Given the description of an element on the screen output the (x, y) to click on. 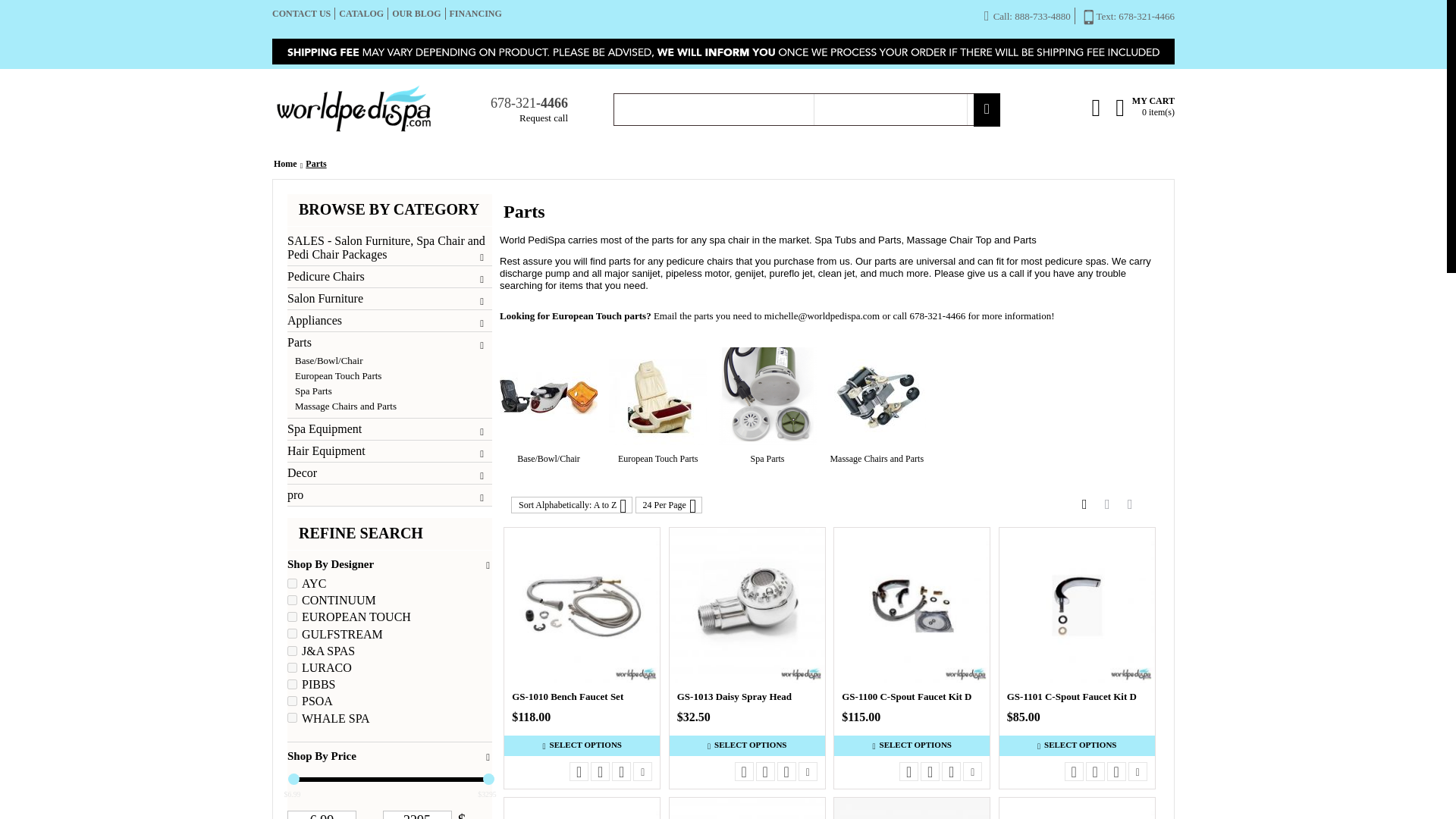
pro (389, 495)
World PediSpa (353, 108)
FINANCING (474, 13)
Parts (389, 342)
149 (291, 684)
Massage Chairs and Parts (393, 406)
Spa Parts (393, 390)
138 (291, 700)
OUR BLOG (416, 13)
Pedicure Chairs (389, 276)
Salon Furniture (389, 298)
European Touch Parts (393, 376)
141 (291, 633)
144 (291, 616)
136 (291, 583)
